Given the description of an element on the screen output the (x, y) to click on. 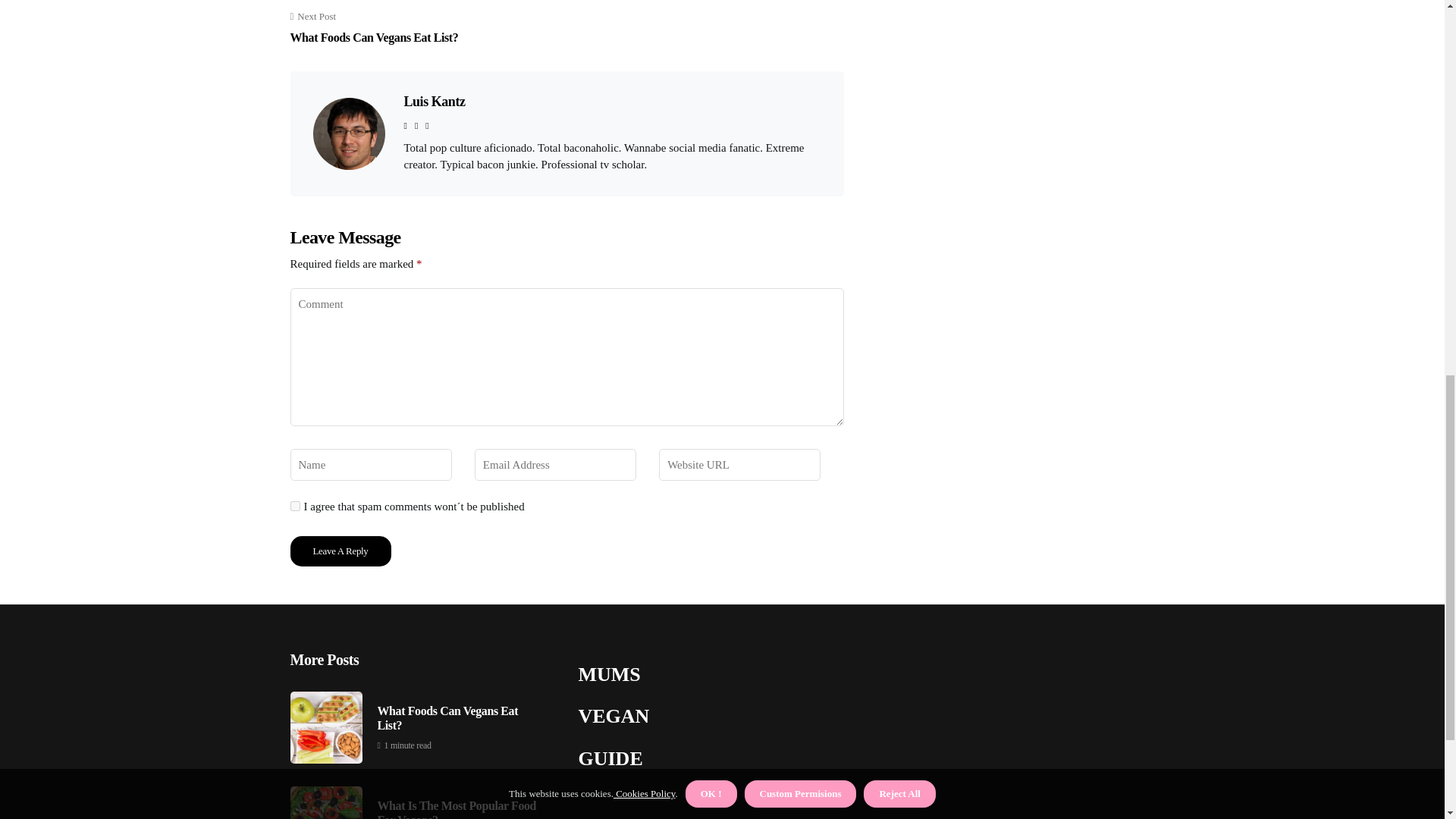
Luis Kantz (373, 27)
Leave a Reply (433, 101)
yes (339, 551)
Leave a Reply (294, 506)
